Given the description of an element on the screen output the (x, y) to click on. 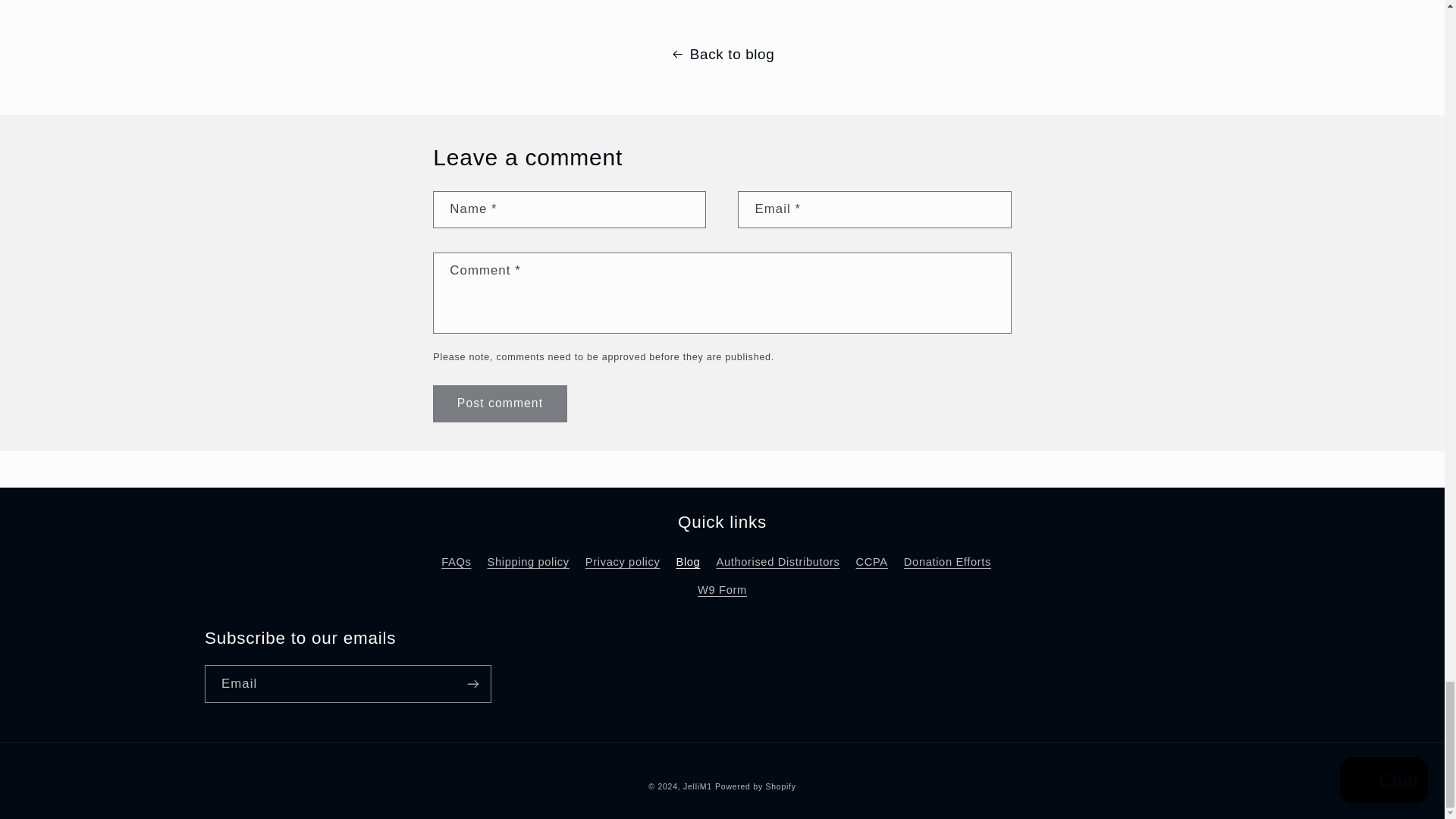
Privacy policy (623, 562)
FAQs (455, 564)
Shipping policy (528, 562)
Post comment (499, 403)
Post comment (499, 403)
